Given the description of an element on the screen output the (x, y) to click on. 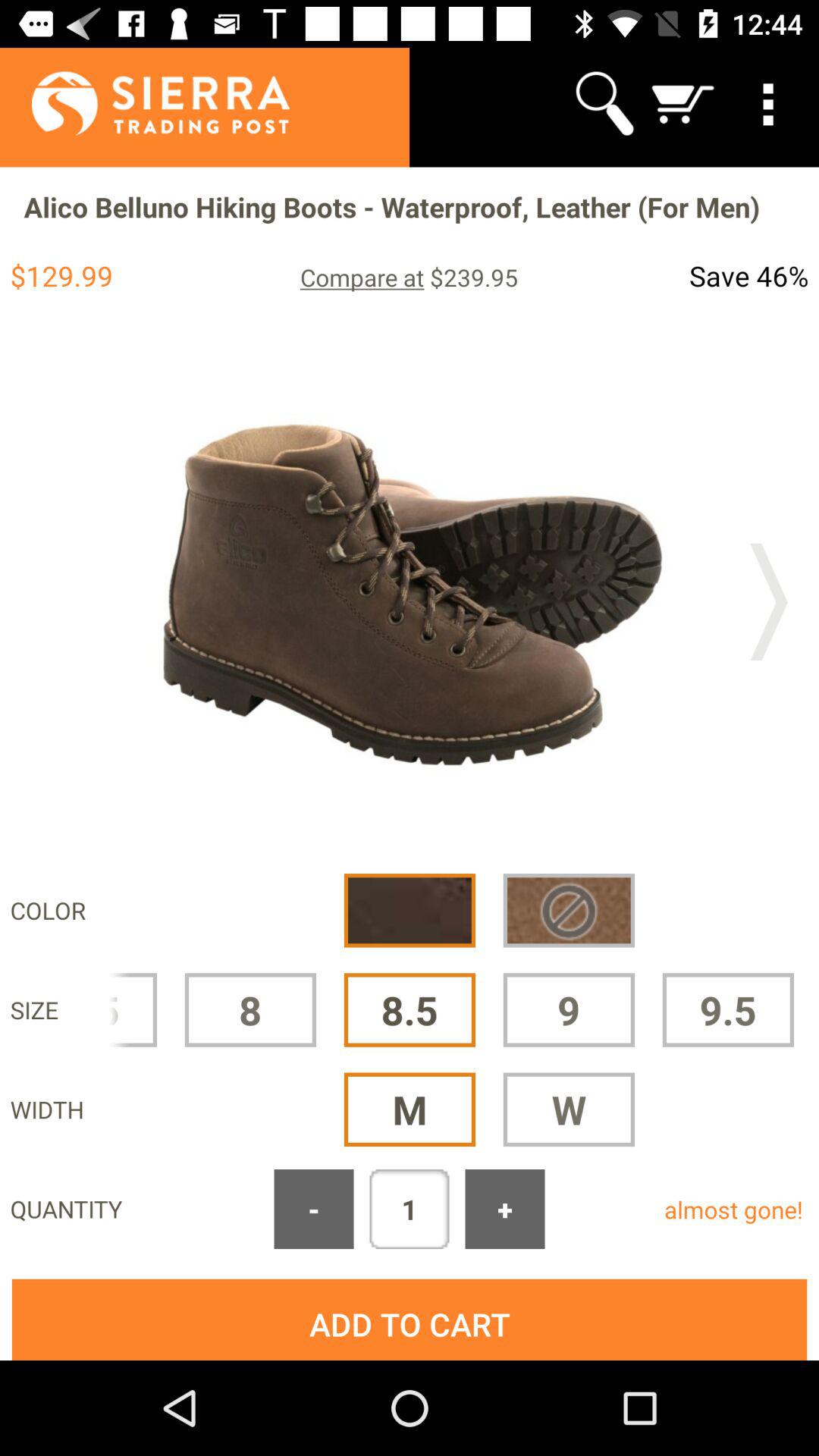
turn on app next to the almost gone! (504, 1208)
